Given the description of an element on the screen output the (x, y) to click on. 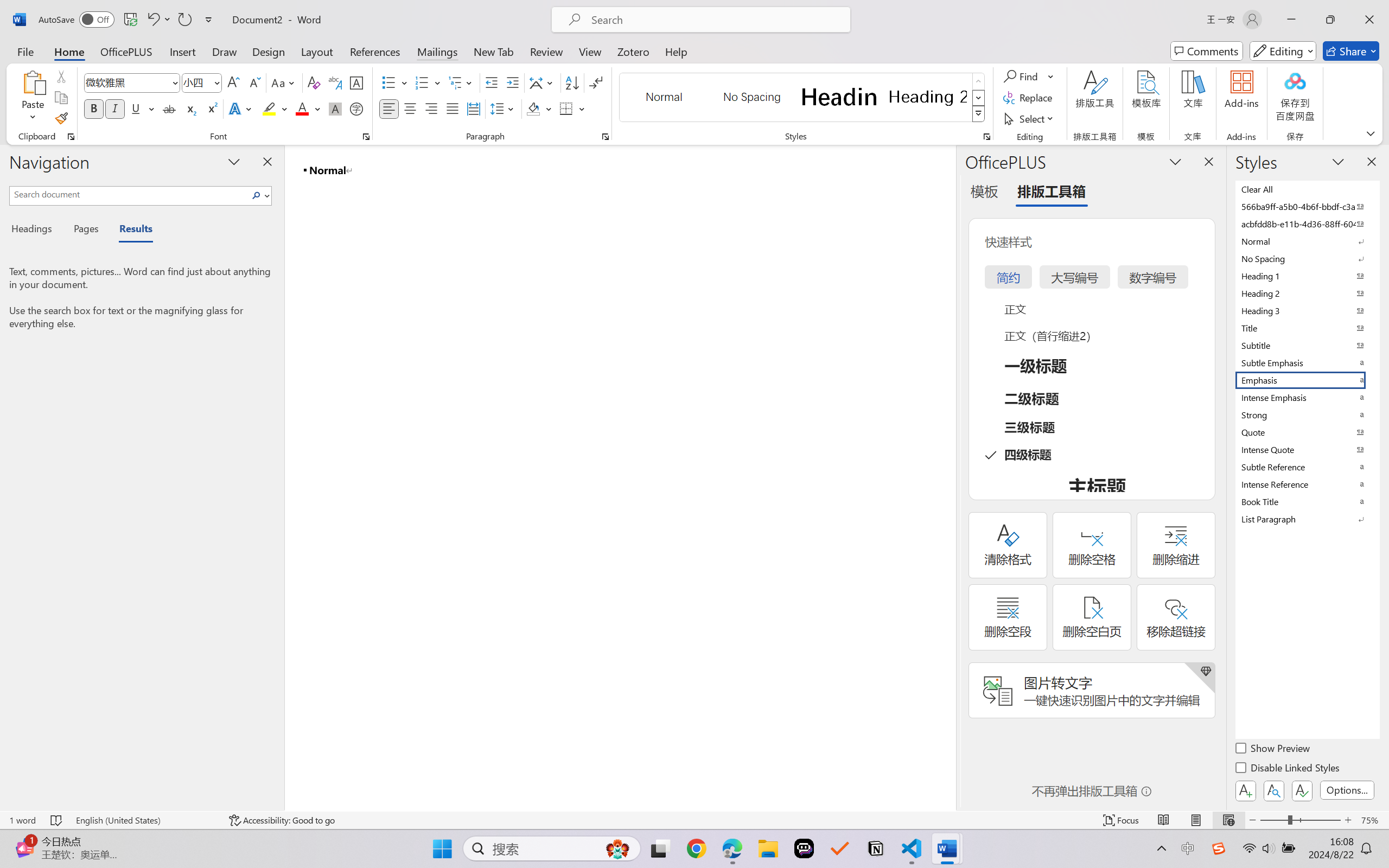
Microsoft search (715, 19)
Center (409, 108)
Ribbon Display Options (1370, 132)
Line and Paragraph Spacing (503, 108)
Search (259, 195)
acbfdd8b-e11b-4d36-88ff-6049b138f862 (1306, 223)
Bullets (388, 82)
Underline (142, 108)
Strikethrough (169, 108)
Normal (1306, 240)
Accessibility Checker Accessibility: Good to go (282, 819)
Character Shading (334, 108)
